Given the description of an element on the screen output the (x, y) to click on. 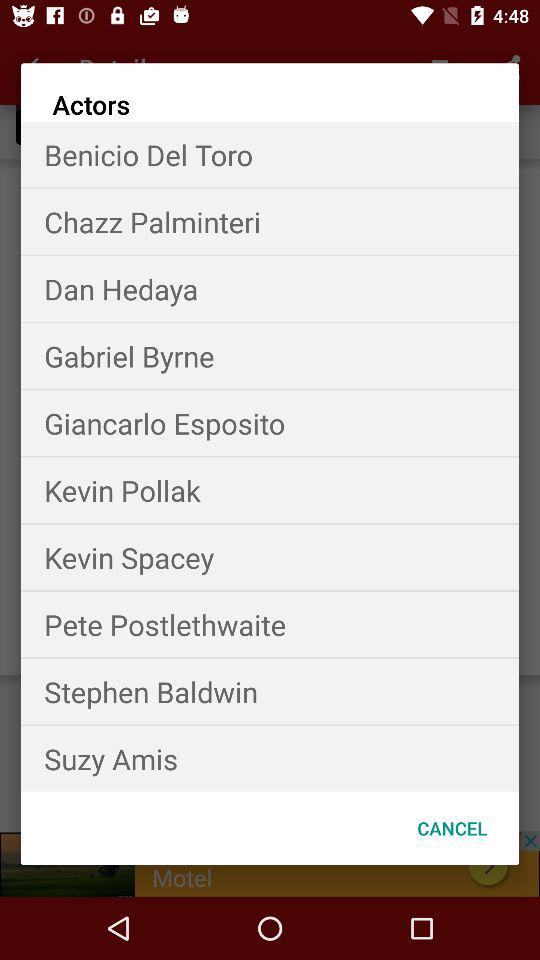
open the item above the    chazz palminteri (269, 154)
